Given the description of an element on the screen output the (x, y) to click on. 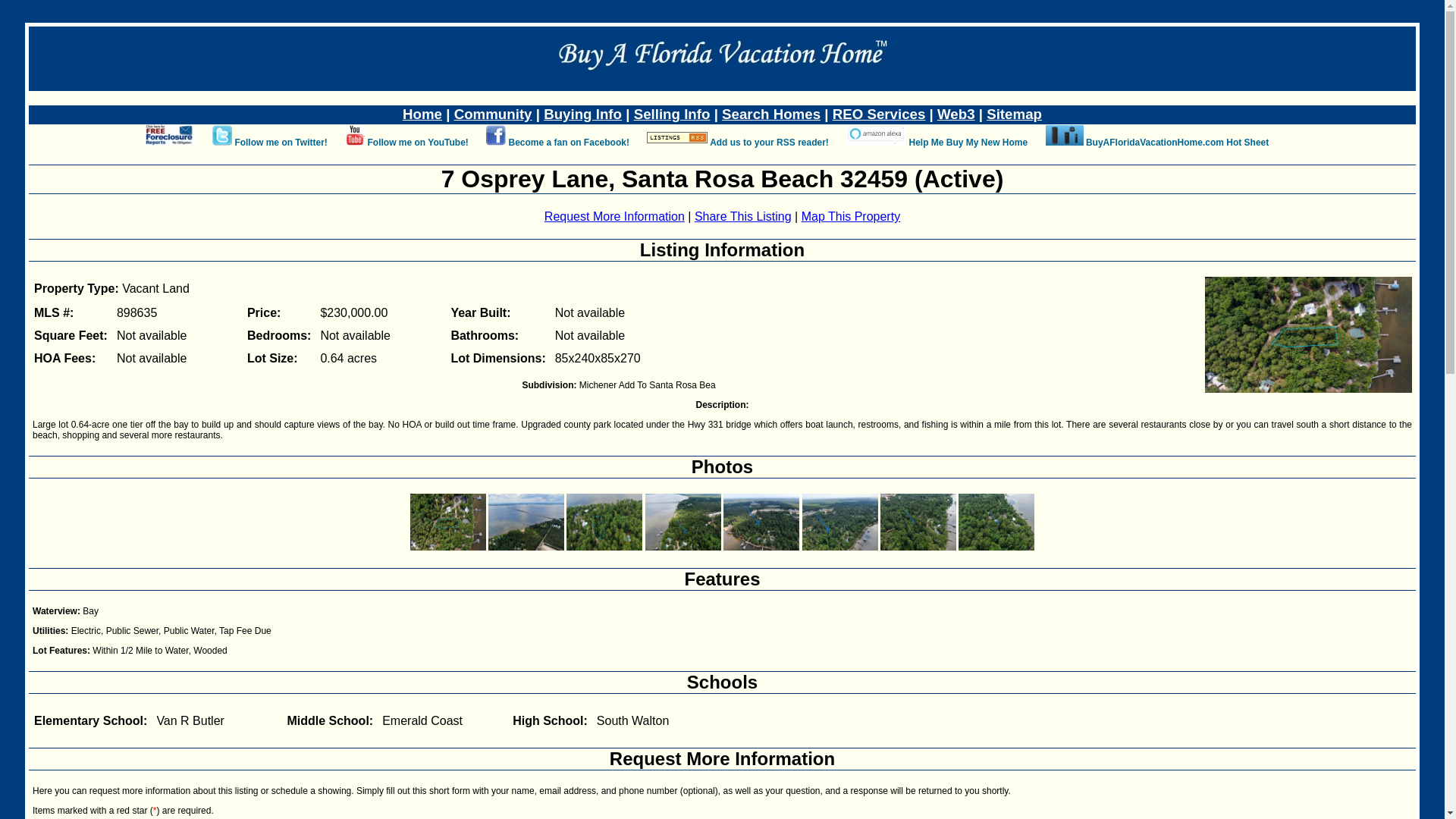
Buying Info (582, 114)
Community (493, 114)
Follow me on Twitter! (280, 142)
Home (422, 114)
REO Services (879, 114)
Share This Listing (743, 215)
Add us to your RSS reader! (769, 142)
Help Me Buy My New Home (967, 142)
BuyAFloridaVacationHome.com Hot Sheet (1177, 142)
Map This Property (850, 215)
Web3 (956, 114)
Follow me on YouTube! (416, 142)
Selling Info (671, 114)
Request More Information (722, 758)
Become a fan on Facebook! (568, 142)
